Given the description of an element on the screen output the (x, y) to click on. 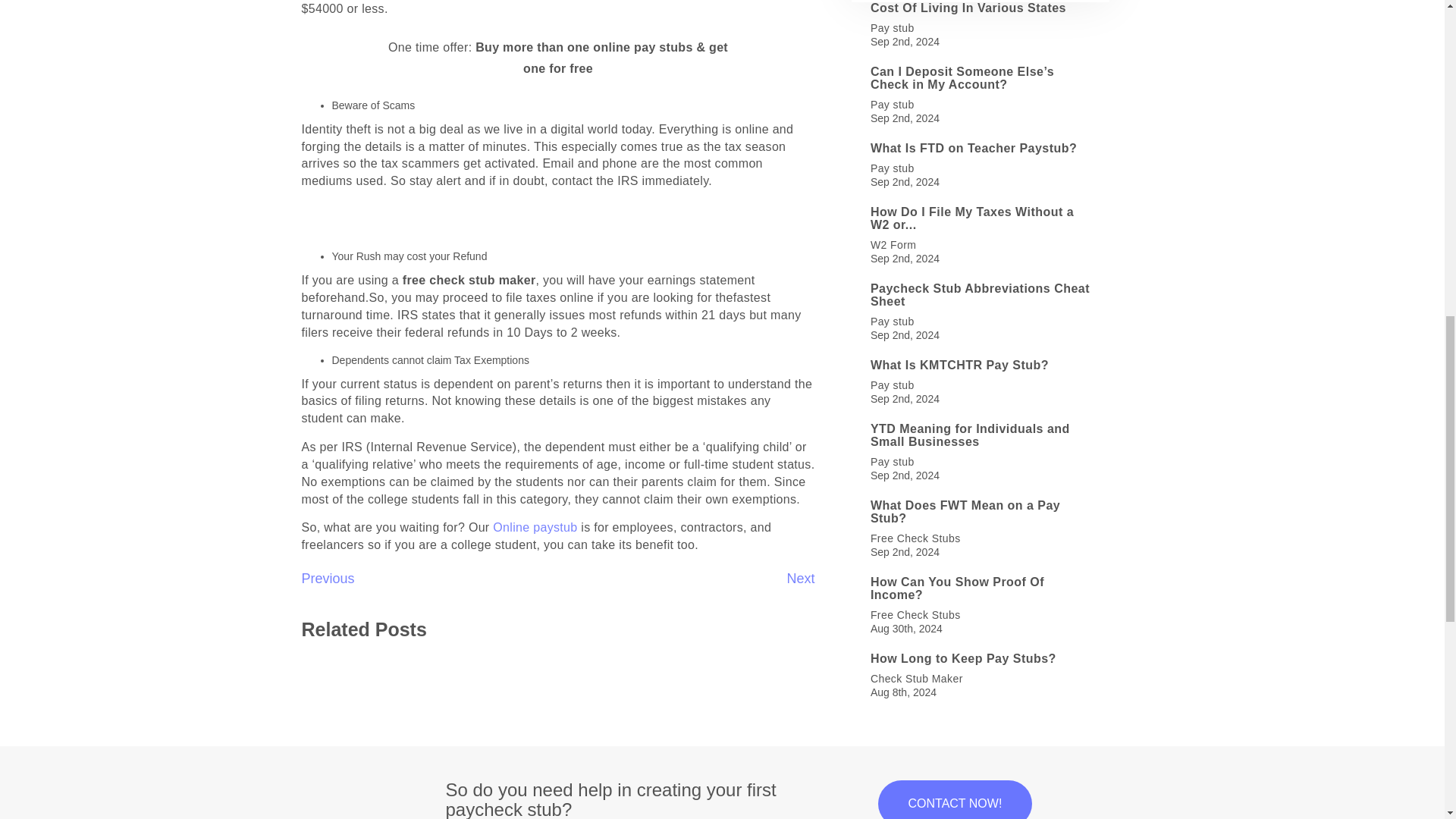
What Is KMTCHTR Pay Stub? (980, 365)
YTD Meaning for Individuals and Small Businesses (980, 435)
How Do I File My Taxes Without a W2 or... (980, 218)
Paycheck Stub Abbreviations Cheat Sheet (980, 294)
What Does FWT Mean on a Pay Stub? (980, 511)
Online paystub (534, 526)
How Can You Show Proof Of Income? (980, 588)
What Is FTD on Teacher Paystub? (980, 148)
How Long to Keep Pay Stubs? (980, 658)
Previous (328, 578)
